Given the description of an element on the screen output the (x, y) to click on. 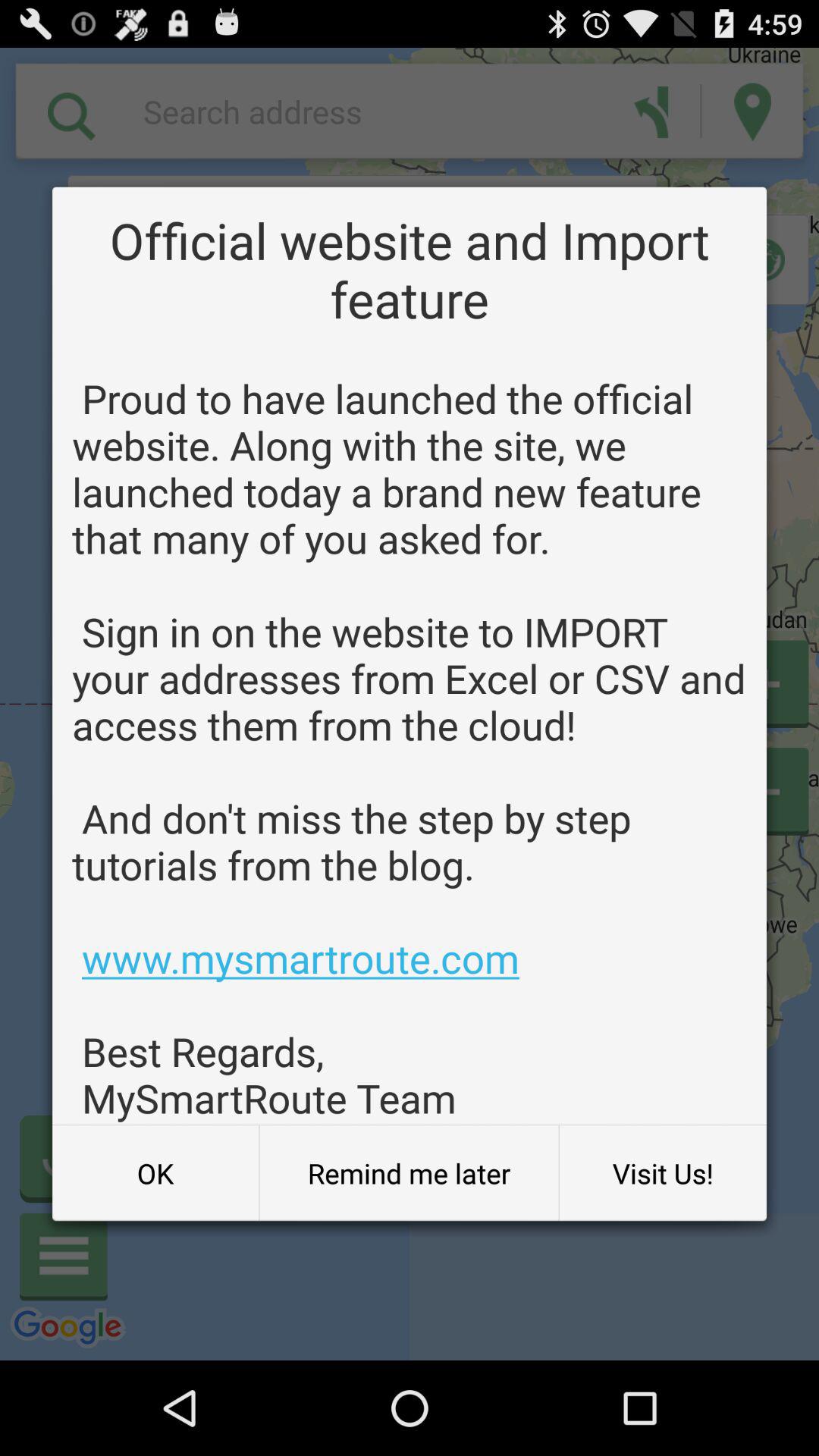
turn off the item below the proud to have app (408, 1173)
